Given the description of an element on the screen output the (x, y) to click on. 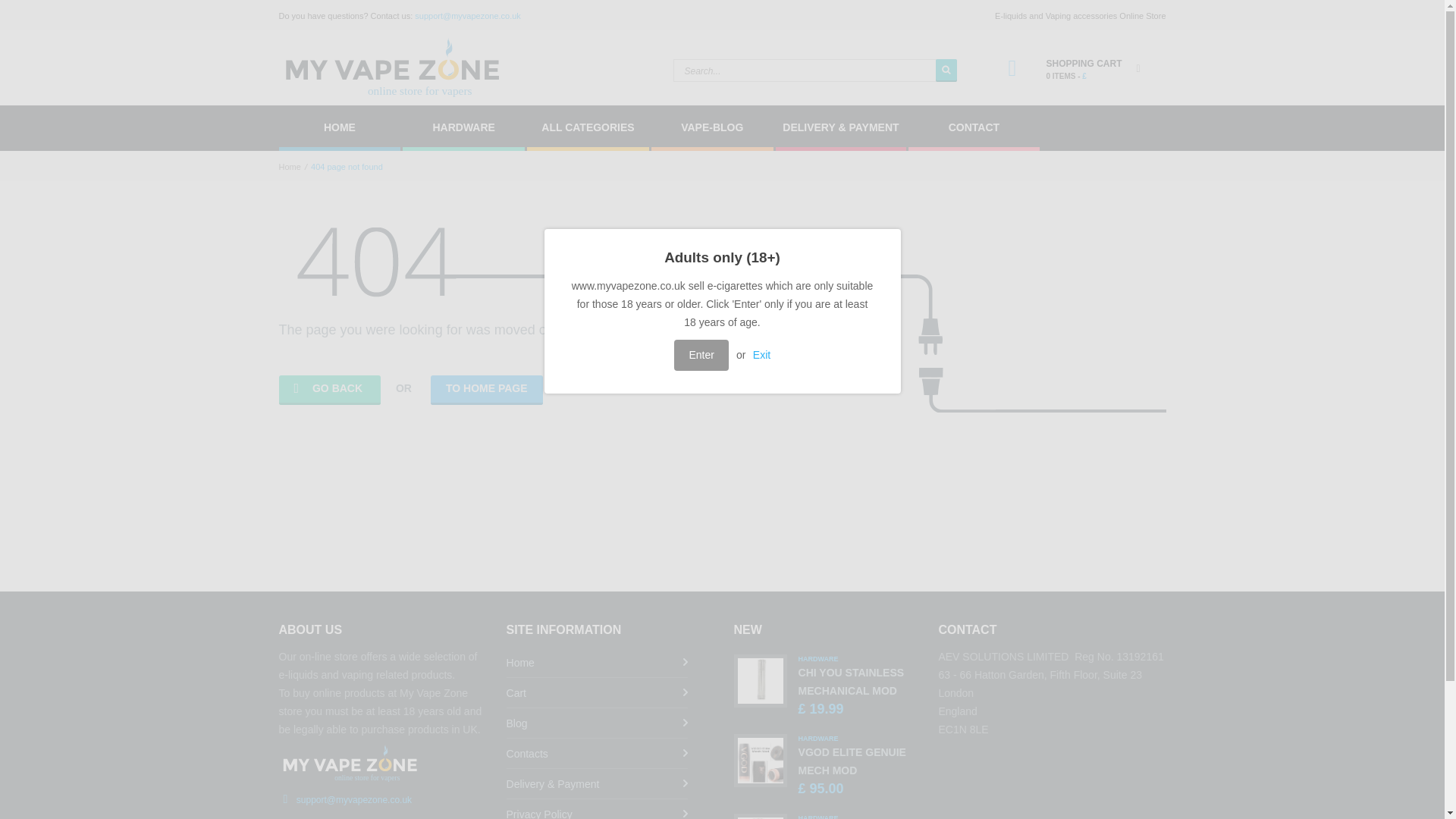
VAPE-BLOG (711, 127)
Home (597, 662)
CHI YOU STAINLESS MECHANICAL MOD (850, 681)
Privacy Policy (597, 809)
GO BACK (329, 389)
HARDWARE (463, 127)
TO HOME PAGE (486, 389)
Home (290, 166)
Enter (701, 355)
Blog (597, 722)
